Given the description of an element on the screen output the (x, y) to click on. 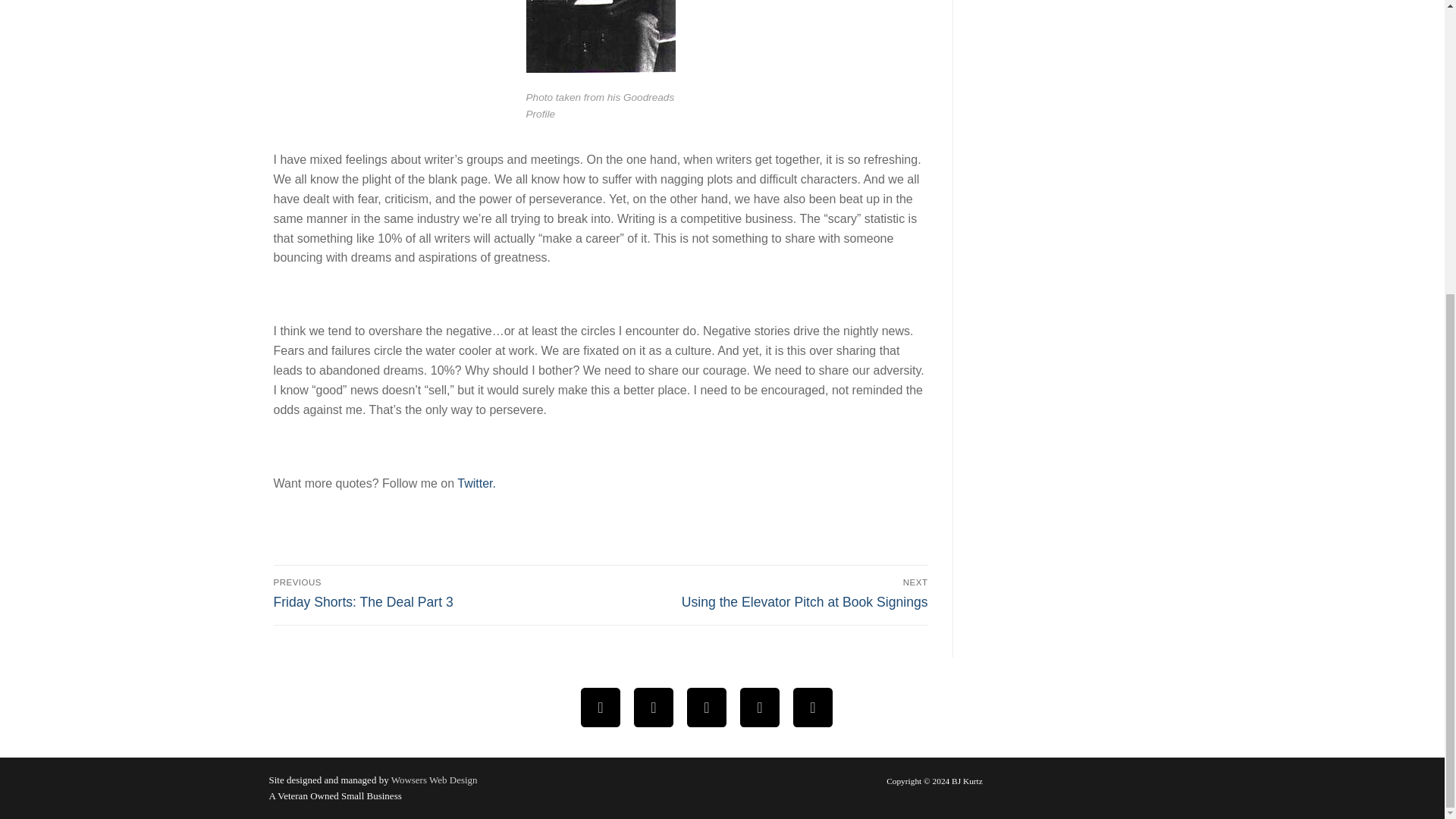
Facebook (600, 707)
Youtube (433, 593)
Linked In (706, 707)
Twitter (759, 707)
Robert Louis Stevenson (767, 593)
Twitter. (653, 707)
Wowsers Web Design (600, 68)
Good Reads (476, 482)
